Given the description of an element on the screen output the (x, y) to click on. 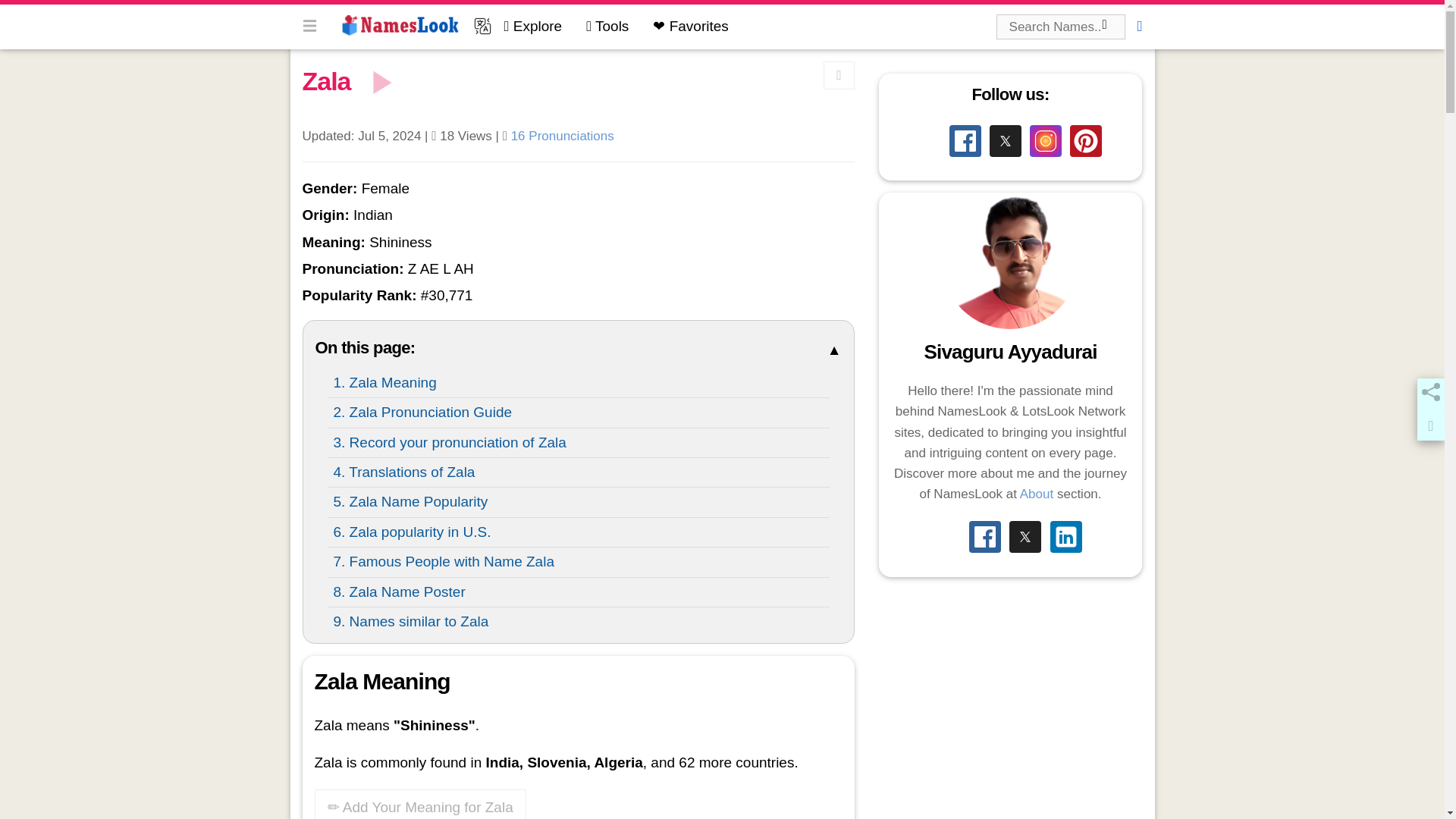
Zala Popularity Rank by NamesLook (446, 295)
16 Pronunciations (562, 135)
Names Dictionary (400, 25)
